Given the description of an element on the screen output the (x, y) to click on. 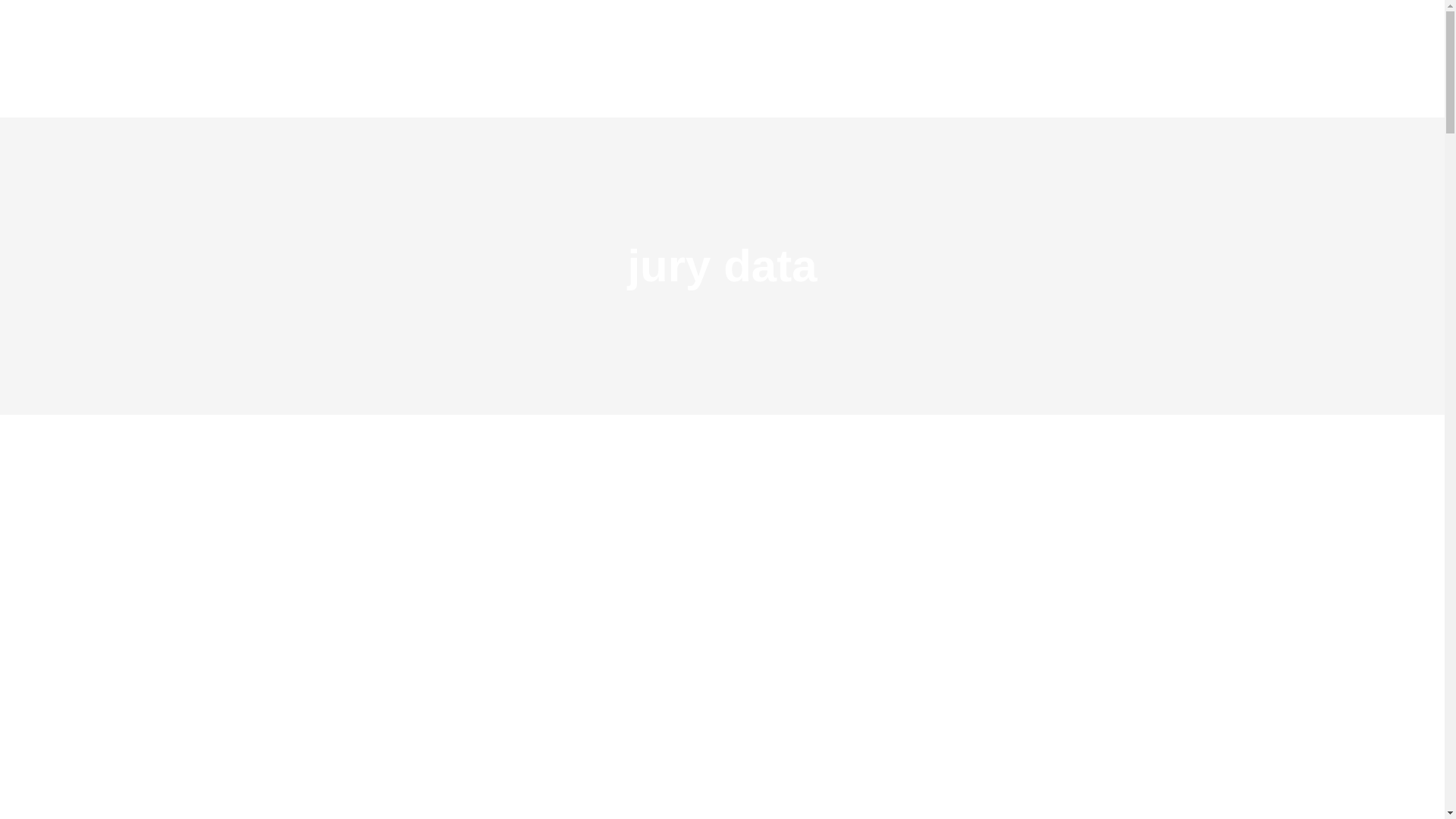
Episodes (658, 58)
Seminars (841, 58)
Resources (749, 58)
Home (581, 58)
